Given the description of an element on the screen output the (x, y) to click on. 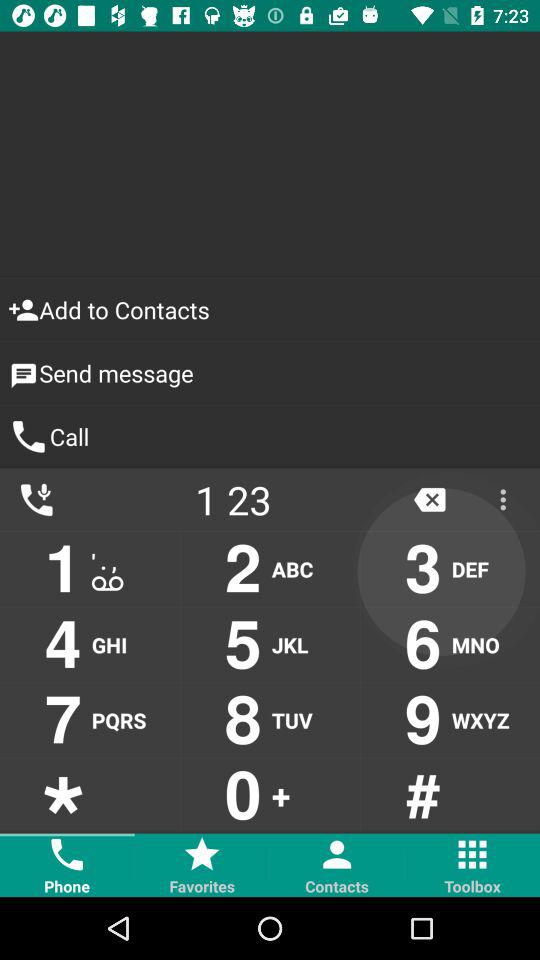
swipe to add to contacts (270, 309)
